Given the description of an element on the screen output the (x, y) to click on. 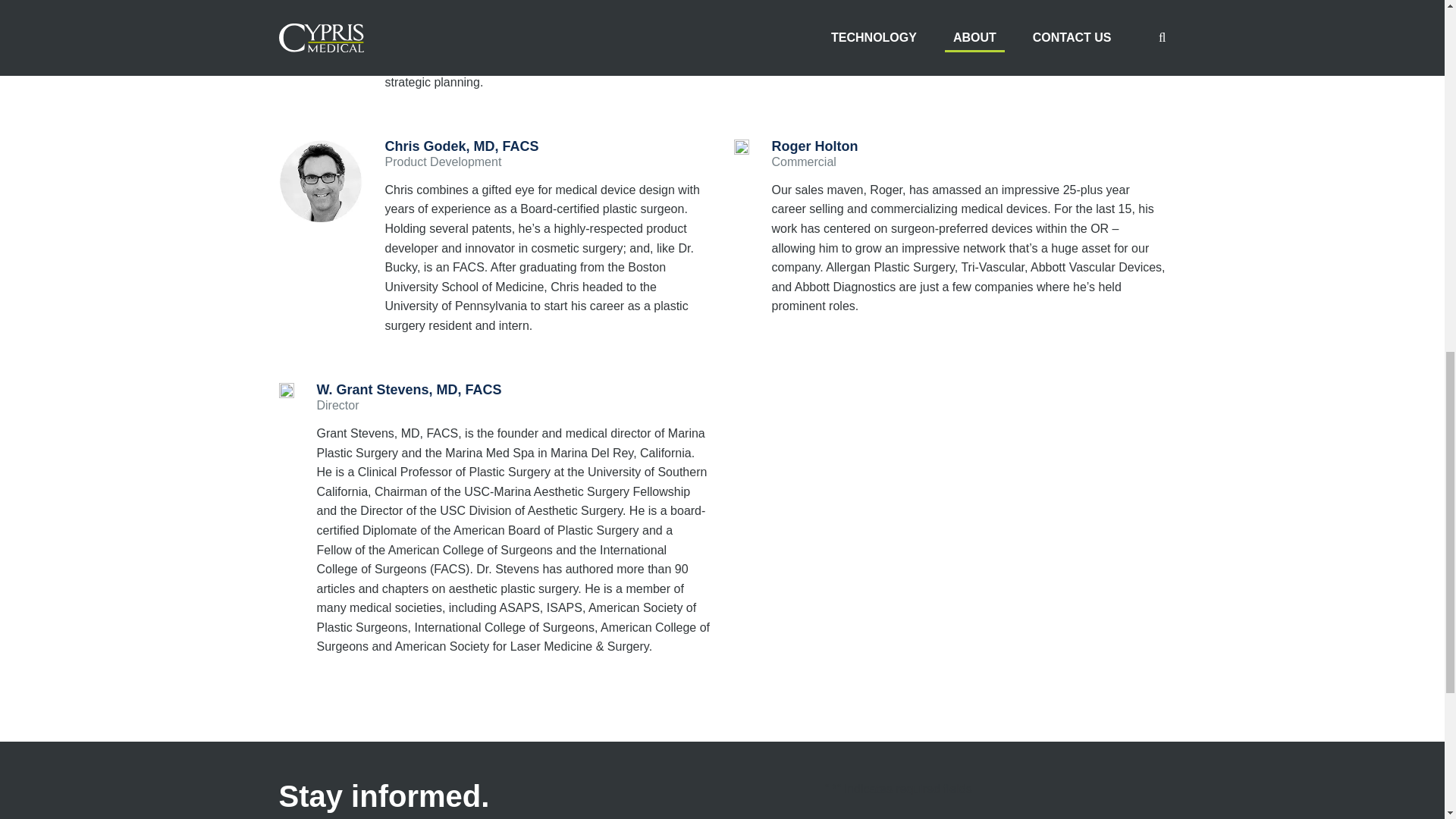
Chris Godek, MD, FACS (461, 145)
Roger Holton (815, 145)
W. Grant Stevens, MD, FACS (409, 389)
